Given the description of an element on the screen output the (x, y) to click on. 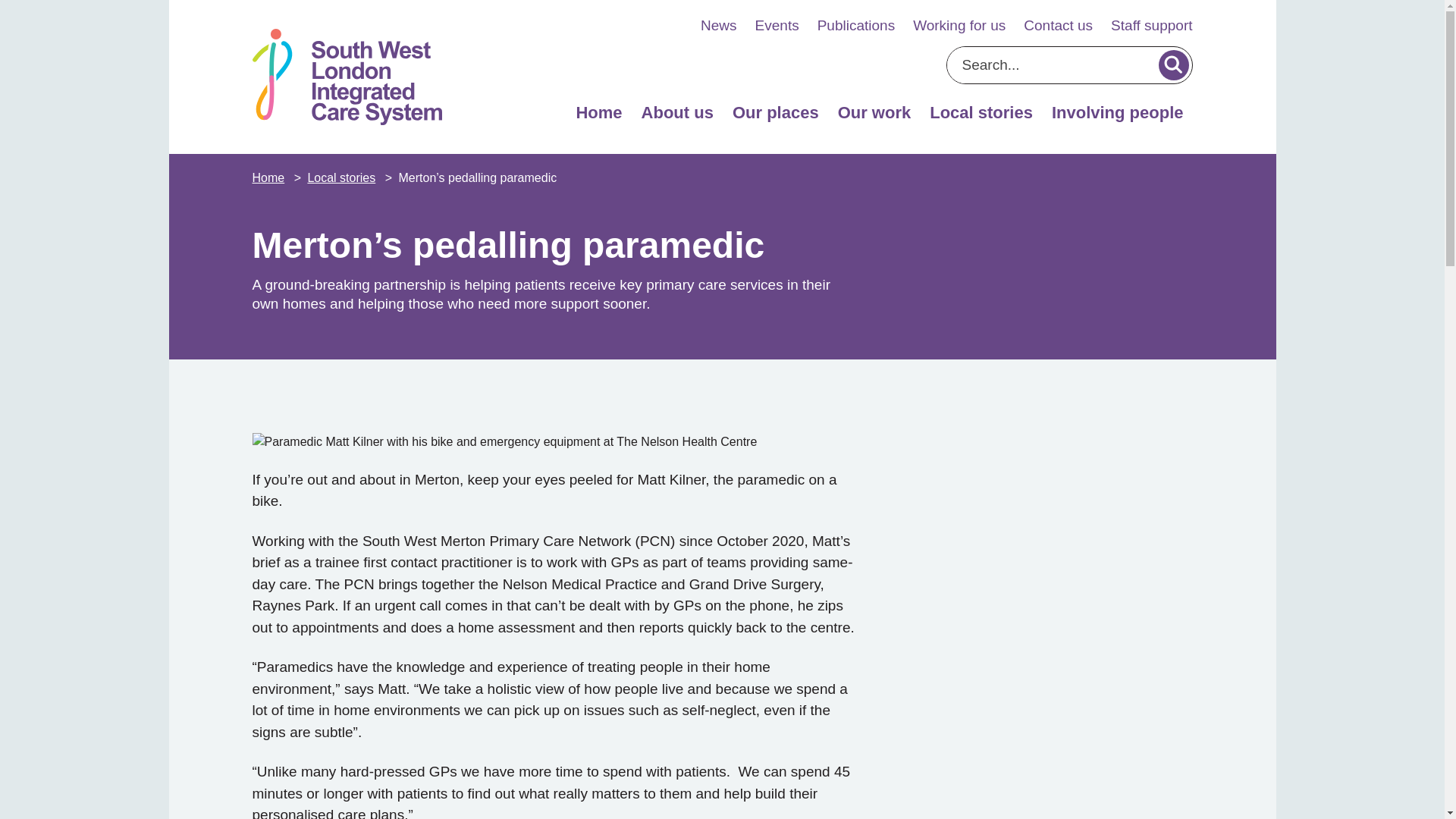
Events (777, 25)
About us (676, 116)
Home (598, 116)
South West London ICS Homepage (346, 76)
Our work (874, 116)
Publications (855, 25)
Contact us (1058, 25)
Working for us (959, 25)
Our places (775, 116)
Local stories (981, 116)
News (718, 25)
Go to Local stories. (342, 177)
Go to Home. (268, 177)
